Given the description of an element on the screen output the (x, y) to click on. 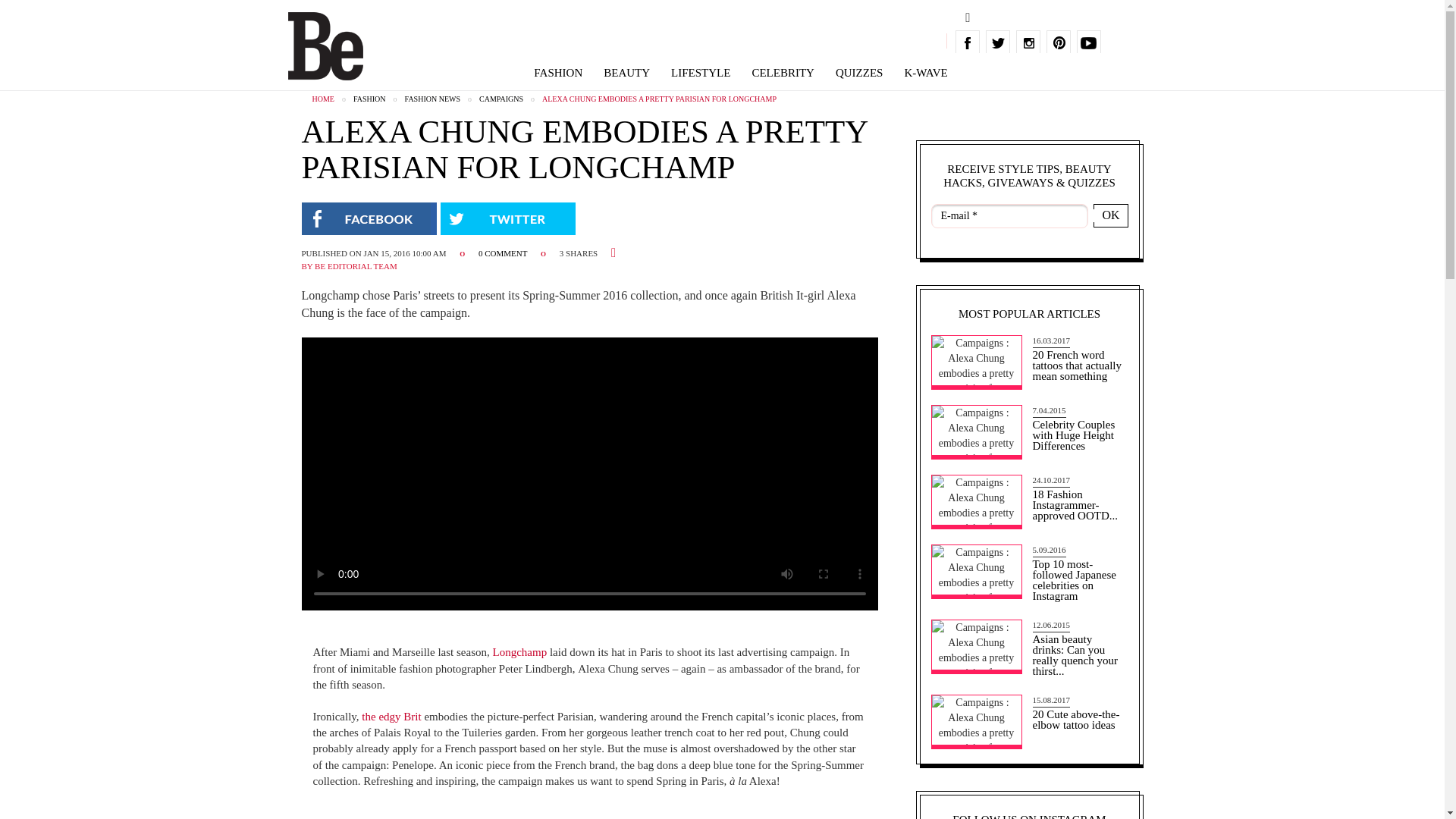
OK (1109, 215)
Top 10 most-followed Japanese celebrities on Instagram (1078, 574)
Celebrity Couples with Huge Height Differences (1078, 429)
20 Cute above-the-elbow tattoo ideas (1078, 713)
20 French word tattoos that actually mean something (1078, 359)
0 COMMENT (504, 252)
LIFESTYLE (700, 72)
CELEBRITY (782, 72)
FASHION (558, 72)
BEAUTY (626, 72)
